Given the description of an element on the screen output the (x, y) to click on. 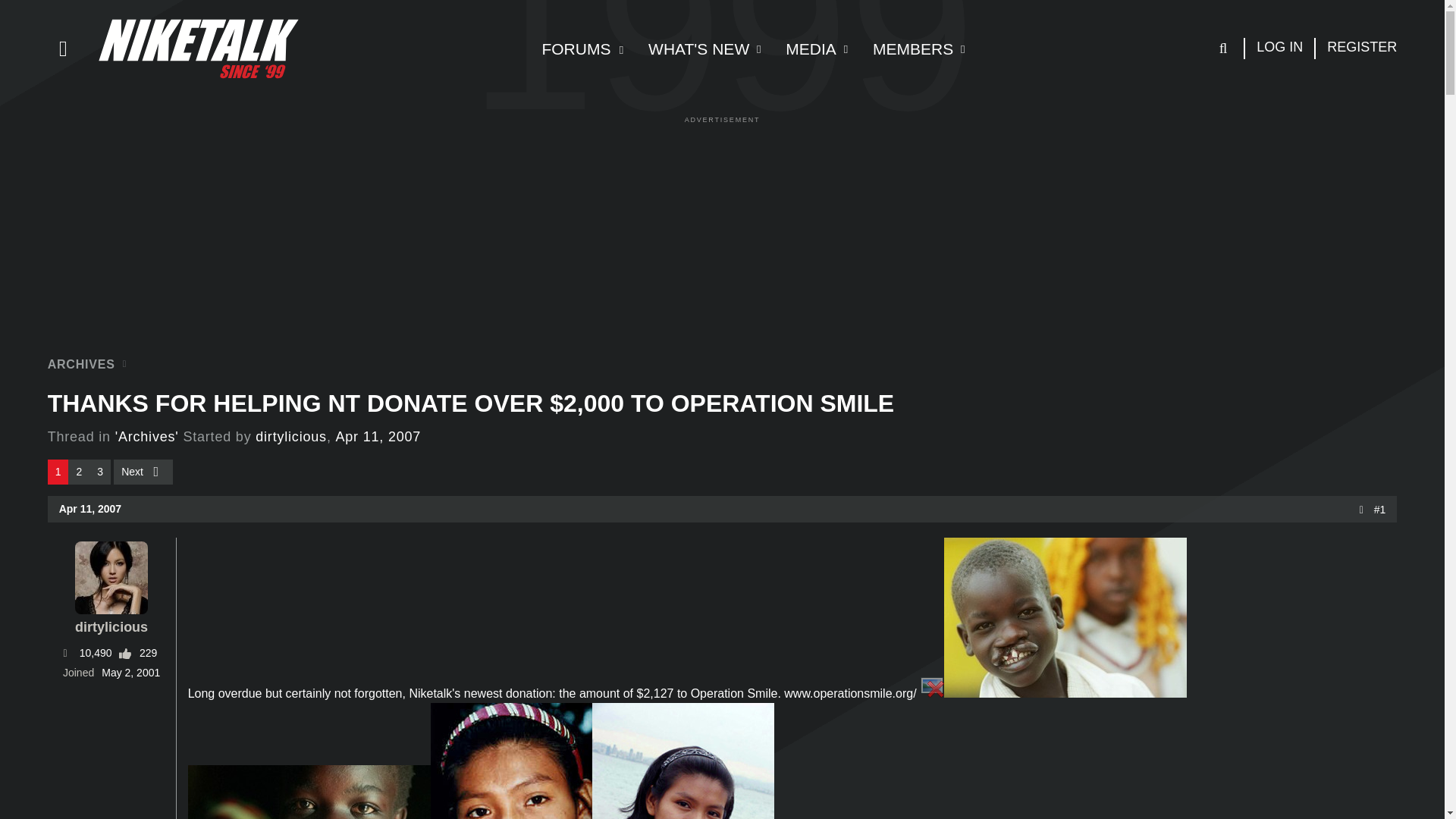
FORUMS (750, 48)
LOG IN (750, 65)
Apr 11, 2007 at 6:21 AM (579, 48)
WHAT'S NEW (1278, 47)
s83825589.jpg (90, 508)
MEMBERS (692, 48)
s83825593.jpg (683, 760)
Apr 11, 2007 at 6:21 AM (906, 48)
MEDIA (511, 760)
s83825584.jpg (377, 436)
s83825582.jpg (804, 48)
Search (1064, 619)
